Given the description of an element on the screen output the (x, y) to click on. 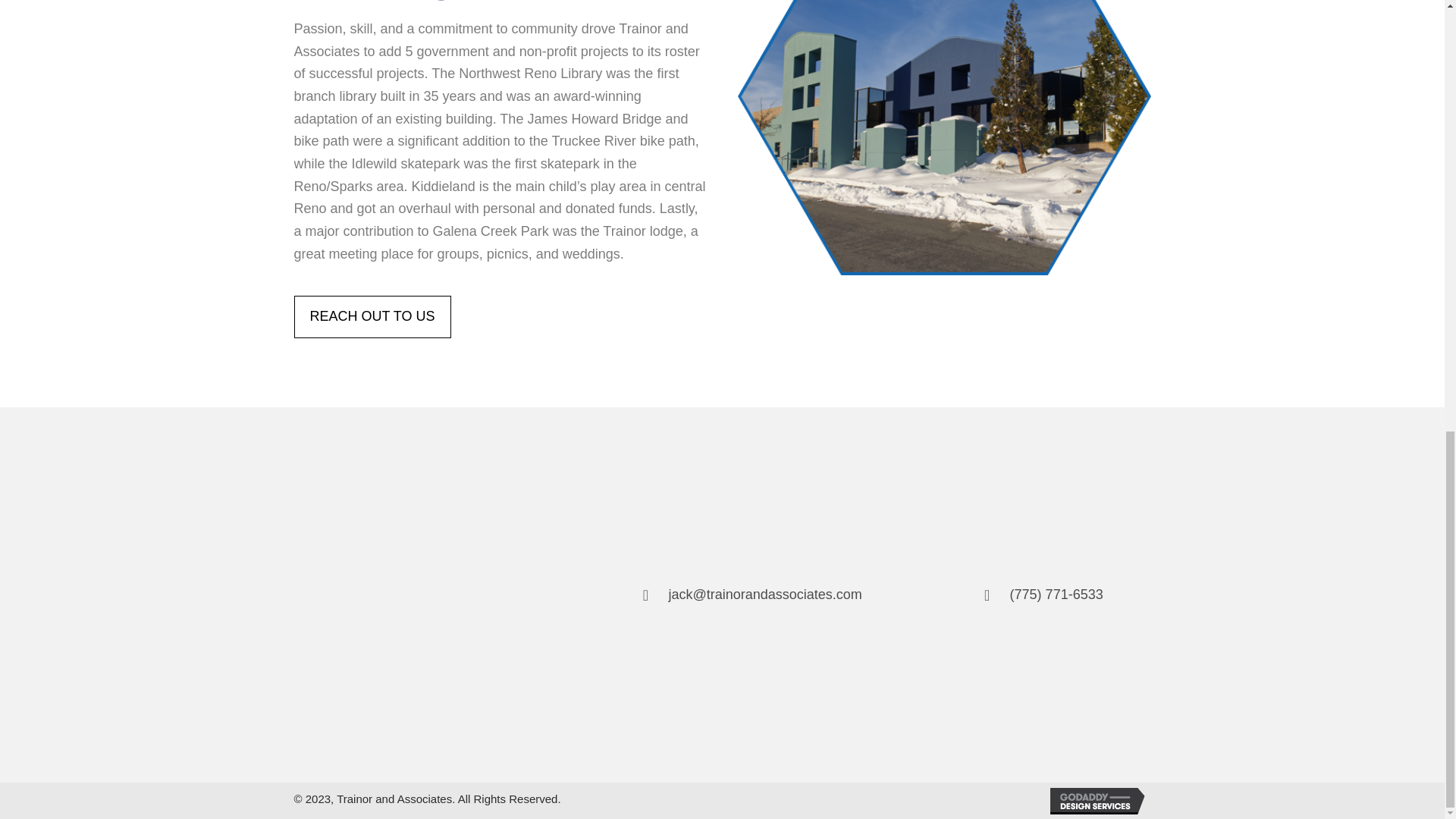
logo (413, 596)
REACH OUT TO US (372, 316)
